Given the description of an element on the screen output the (x, y) to click on. 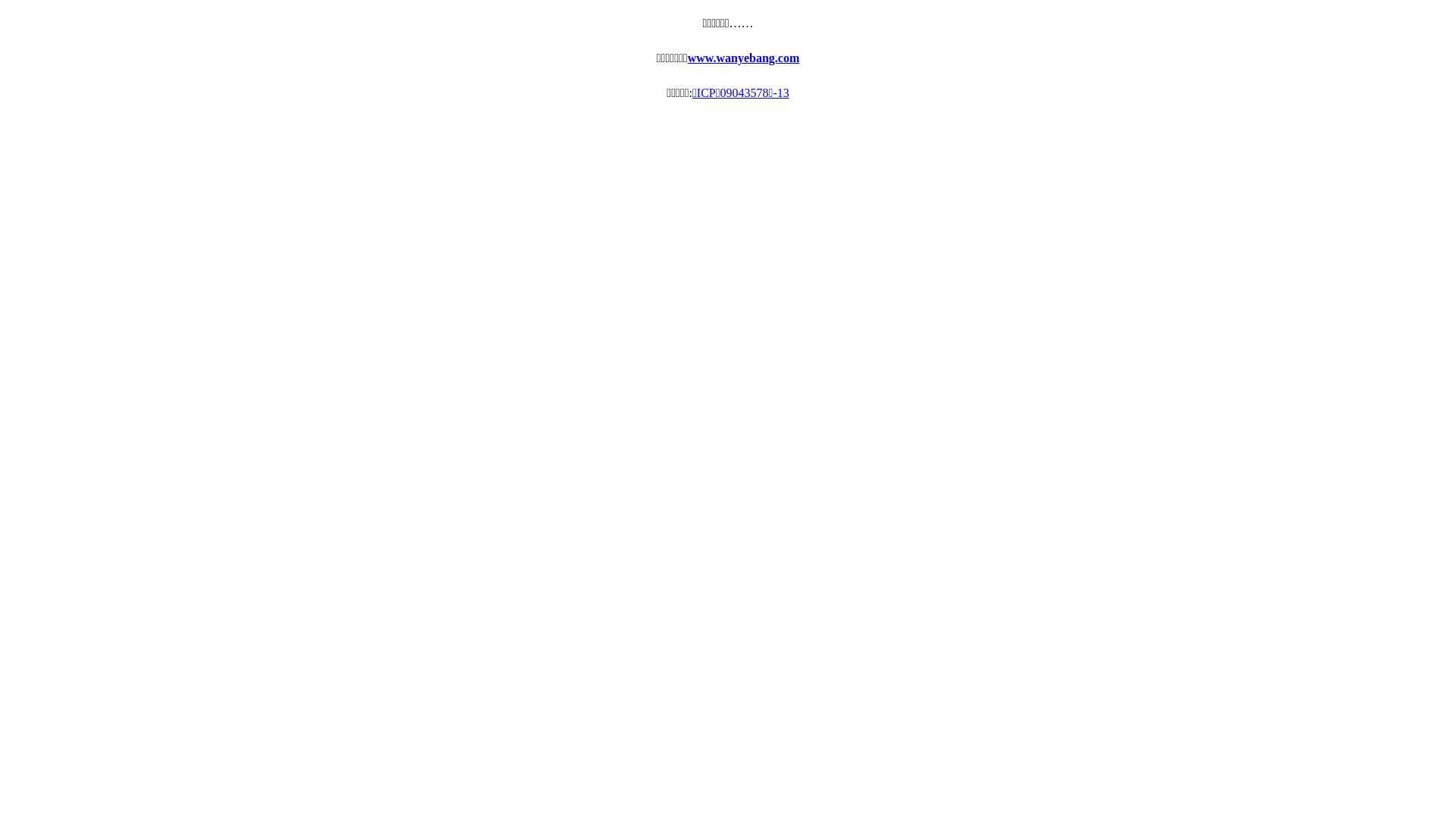
www.wanyebang.com Element type: text (743, 57)
